Given the description of an element on the screen output the (x, y) to click on. 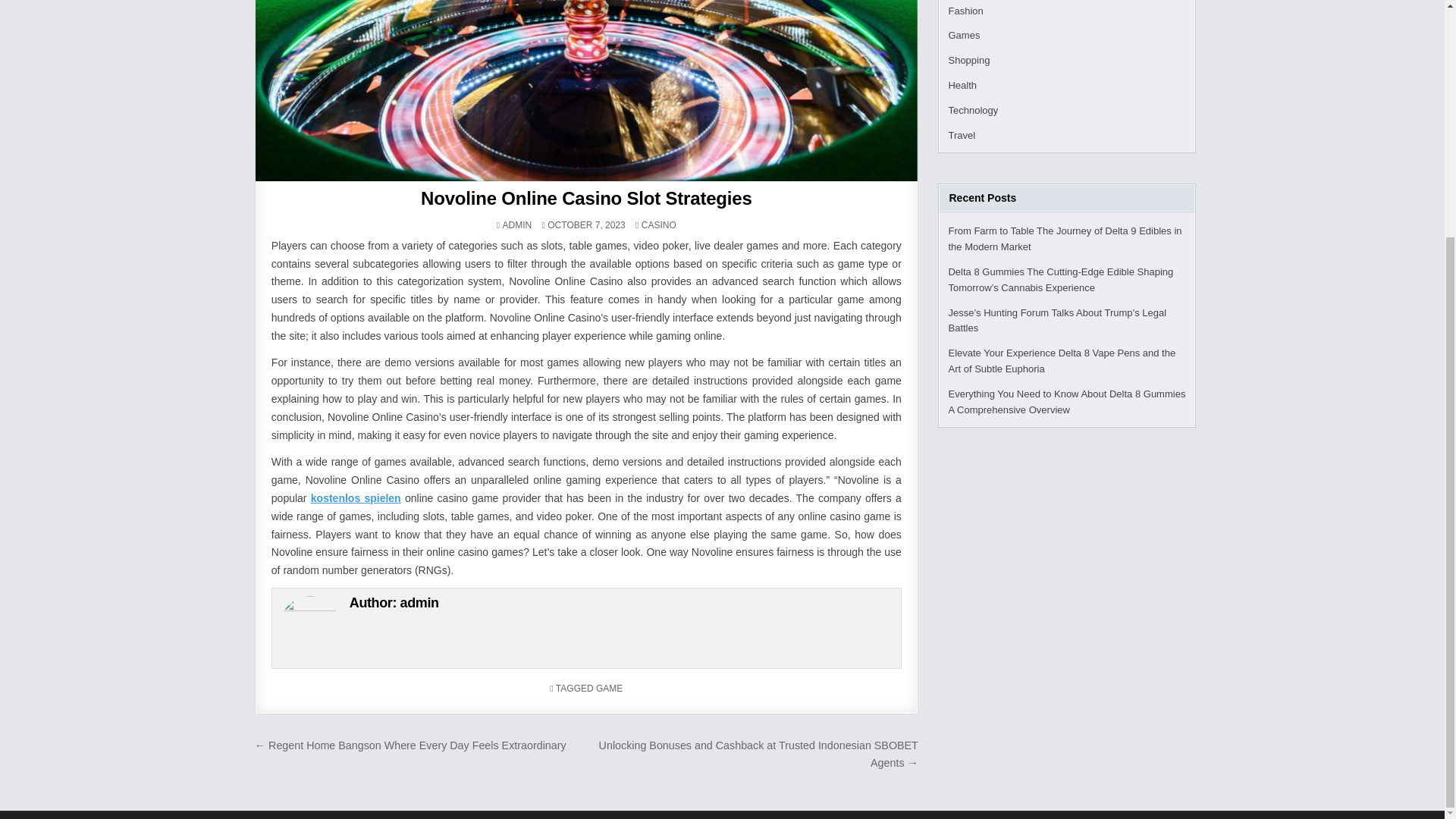
Health (961, 84)
admin (419, 602)
Games (963, 34)
kostenlos spielen (356, 498)
Shopping (968, 60)
GAME (609, 688)
Novoline Online Casino Slot Strategies (585, 198)
Permanent Link to Novoline Online Casino Slot Strategies (586, 90)
